Given the description of an element on the screen output the (x, y) to click on. 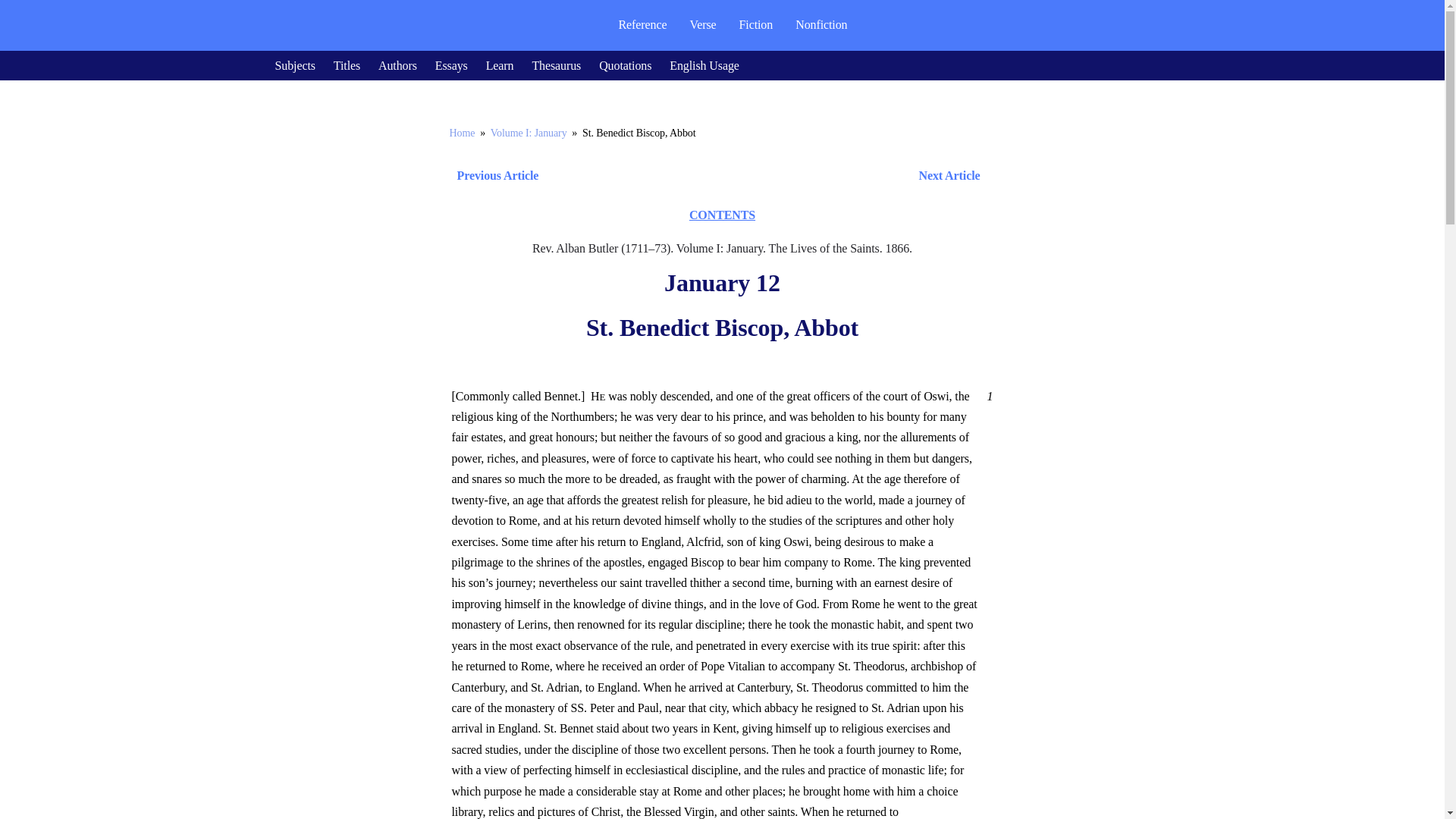
Authors (397, 65)
Subjects (294, 65)
CONTENTS (721, 214)
Previous Article (493, 175)
Quotations (624, 65)
Thesaurus (555, 65)
Verse (702, 24)
Nonfiction (821, 24)
Home (461, 132)
Reference (642, 24)
